Given the description of an element on the screen output the (x, y) to click on. 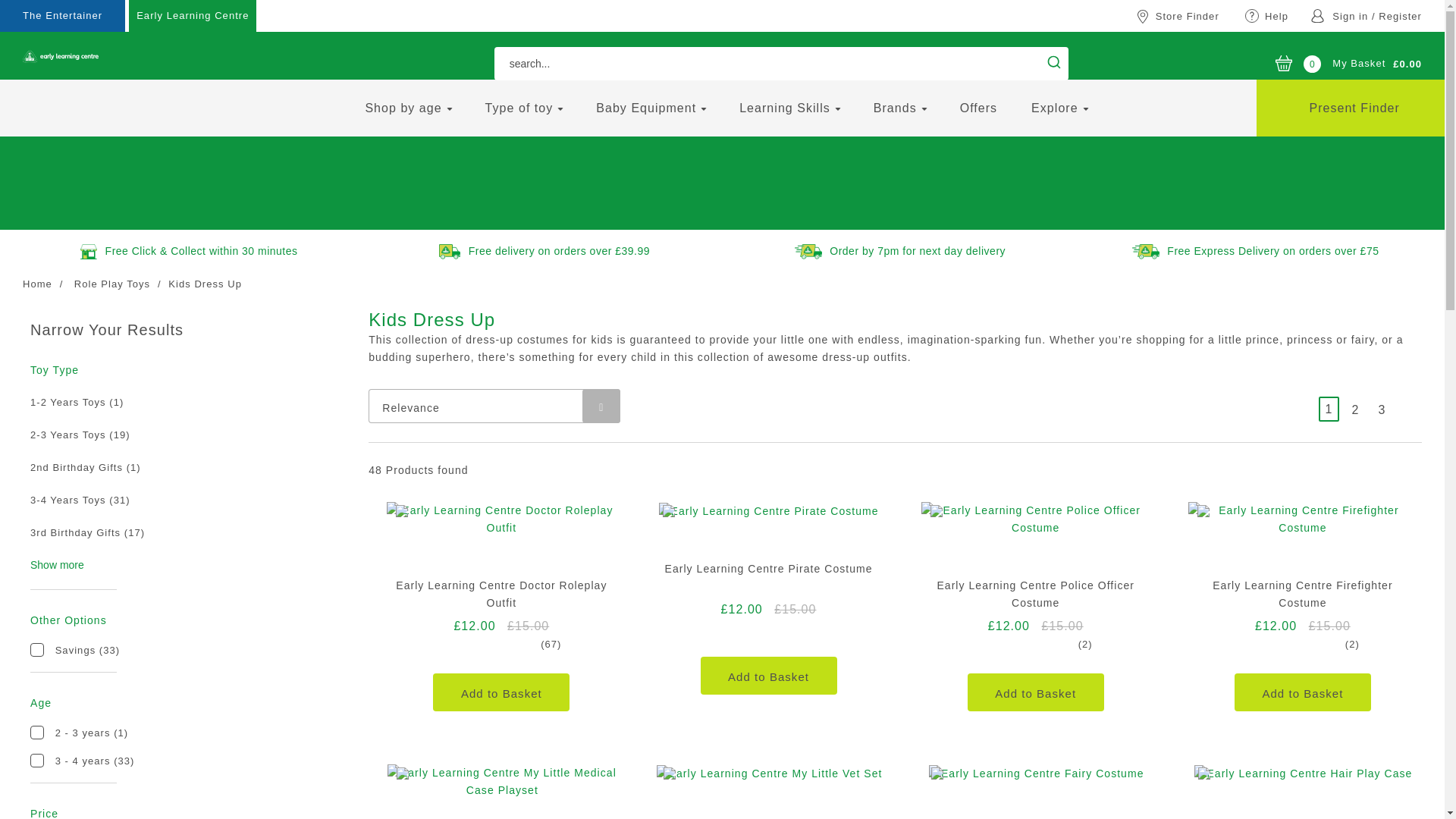
Type of toy (519, 107)
Early Learning Centre (192, 15)
Shop by age (403, 107)
The Entertainer (62, 15)
Shop by age (403, 107)
Help (1267, 16)
Go (1053, 62)
Store Finder (1182, 16)
Early Learning Centre (61, 56)
